Given the description of an element on the screen output the (x, y) to click on. 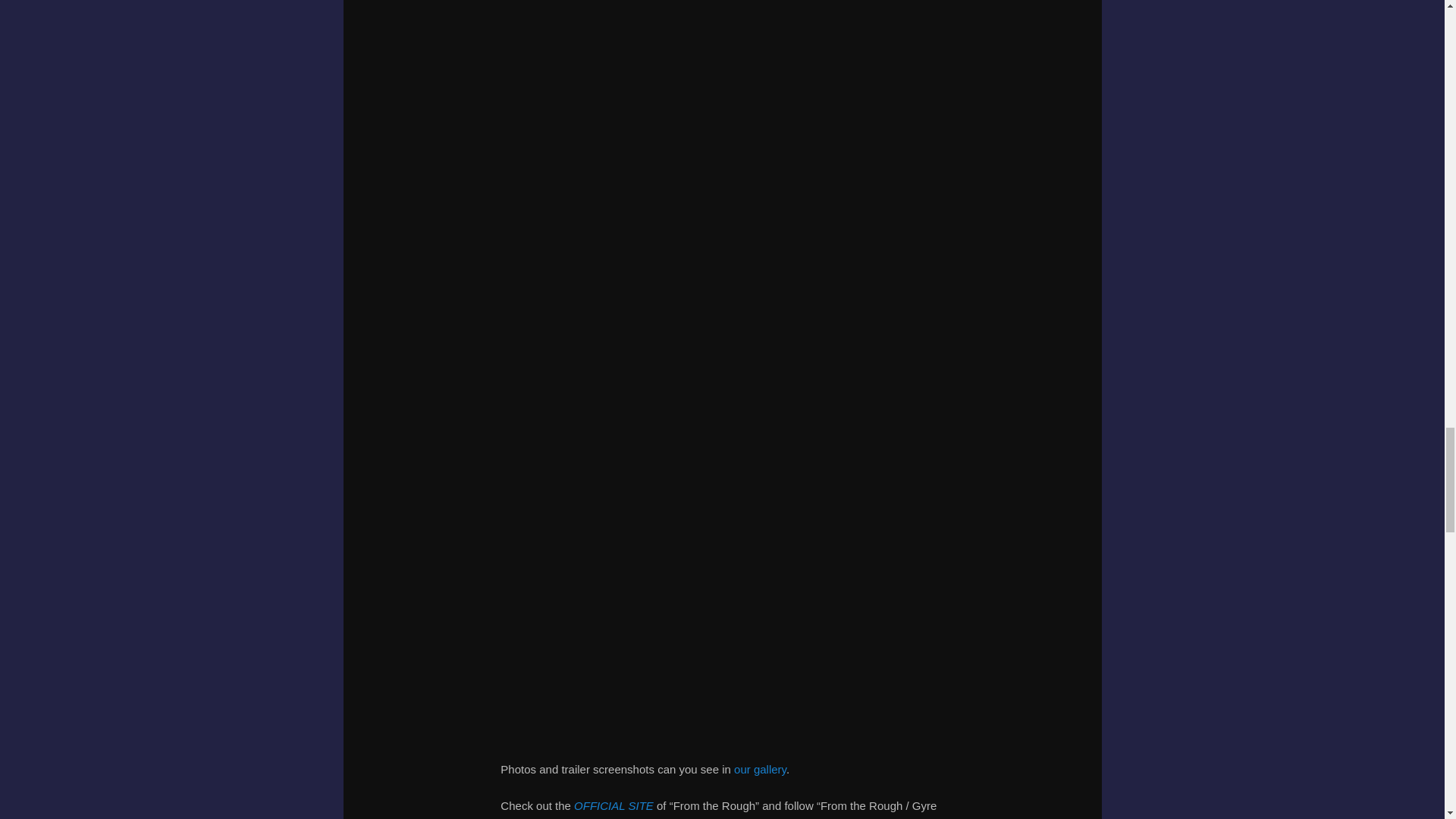
YouTube (819, 818)
Facebook (625, 818)
Twitter (741, 818)
